Given the description of an element on the screen output the (x, y) to click on. 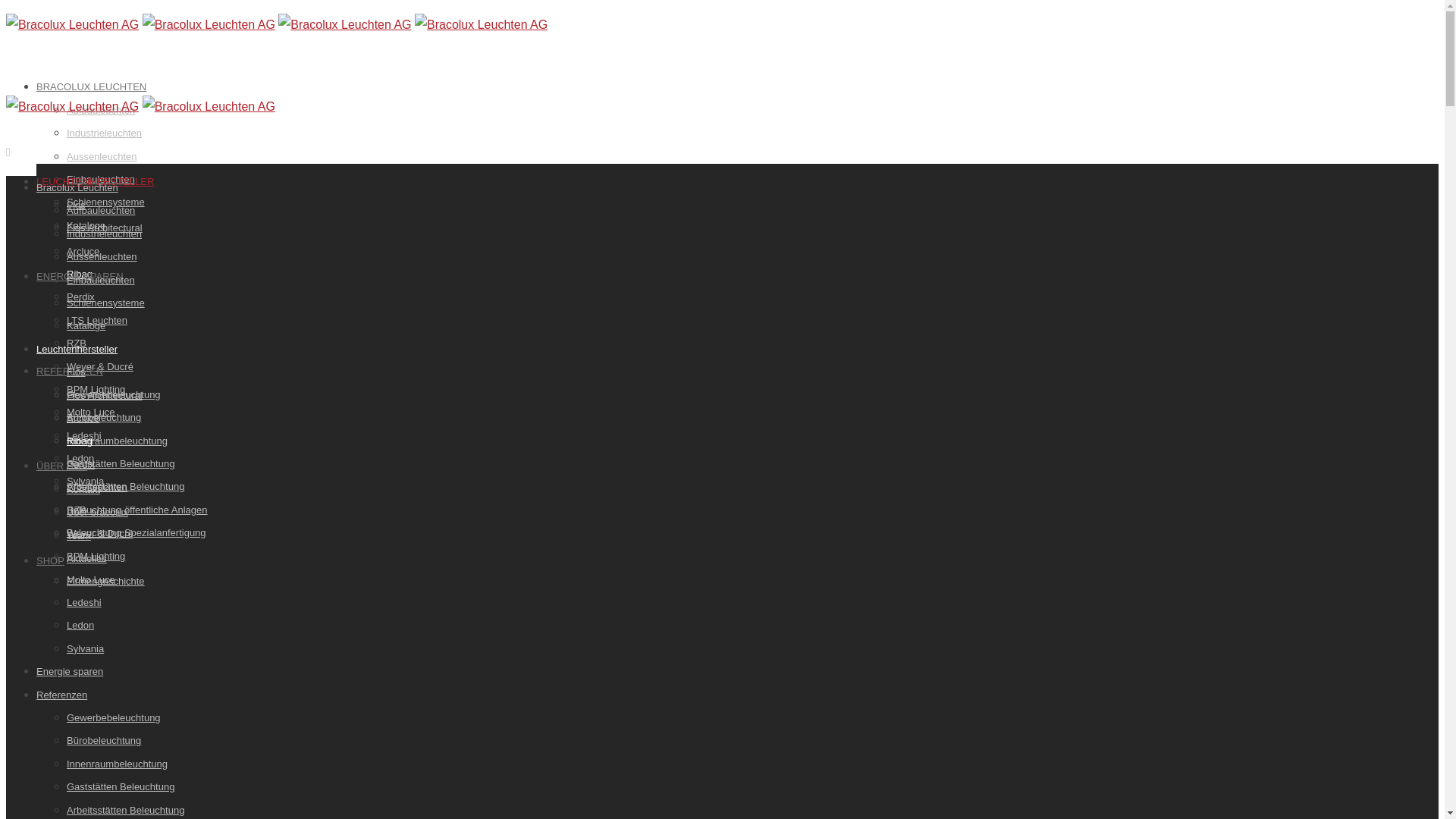
Ledon Element type: text (80, 458)
SHOP Element type: text (50, 560)
Flos Element type: text (75, 204)
LTS Leuchten Element type: text (96, 486)
Aufbauleuchten Element type: text (100, 210)
Einbauleuchten Element type: text (100, 279)
Arcluce Element type: text (82, 417)
Innenraumbeleuchtung Element type: text (116, 763)
Team Element type: text (78, 535)
Gewerbebeleuchtung Element type: text (113, 394)
Ledon Element type: text (80, 624)
LEUCHTENHERSTELLER Element type: text (94, 181)
Sylvania Element type: text (84, 480)
Flos Architectural Element type: text (104, 395)
REFERENZEN Element type: text (69, 370)
Bracolux Leuchten Element type: text (77, 187)
Ledeshi Element type: text (83, 435)
Sylvania Element type: text (84, 648)
Beleuchtung Spezialanfertigung Element type: text (136, 532)
RZB Element type: text (76, 509)
Industrieleuchten Element type: text (103, 132)
BPM Lighting Element type: text (95, 389)
Aussenleuchten Element type: text (101, 156)
Flos Element type: text (75, 371)
Aktuelles Element type: text (86, 558)
Kataloge Element type: text (85, 325)
Ribag Element type: text (79, 273)
Molto Luce Element type: text (90, 579)
Firmengeschichte Element type: text (105, 580)
Kontakt Element type: text (83, 489)
ENERGIE SPAREN Element type: text (79, 276)
BPM Lighting Element type: text (95, 555)
Ledeshi Element type: text (83, 602)
LTS Leuchten Element type: text (96, 320)
BRACOLUX LEUCHTEN Element type: text (91, 86)
Ribag Element type: text (79, 440)
Energie sparen Element type: text (69, 671)
Perdix Element type: text (80, 464)
Aufbauleuchten Element type: text (100, 110)
Schienensysteme Element type: text (105, 302)
RZB Element type: text (76, 342)
Perdix Element type: text (80, 296)
Kataloge Element type: text (85, 225)
Molto Luce Element type: text (90, 411)
Schienensysteme Element type: text (105, 201)
Flos Architectural Element type: text (104, 227)
Aussenleuchten Element type: text (101, 256)
Leuchtenhersteller Element type: text (76, 348)
Innenraumbeleuchtung Element type: text (116, 440)
Gewerbebeleuchtung Element type: text (113, 717)
Arcluce Element type: text (82, 251)
Industrieleuchten Element type: text (103, 233)
Referenzen Element type: text (61, 694)
Einbauleuchten Element type: text (100, 179)
